Given the description of an element on the screen output the (x, y) to click on. 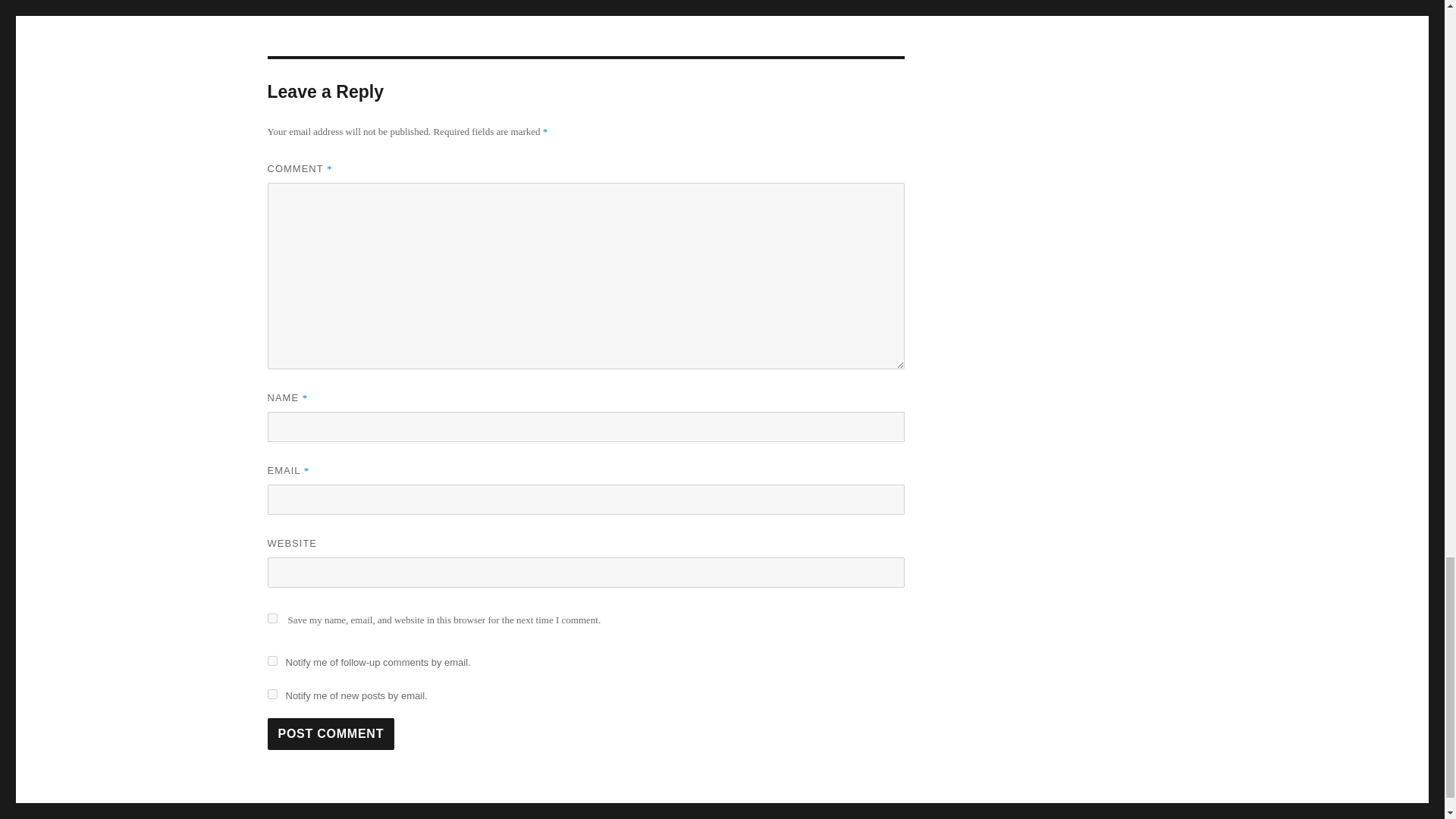
Post Comment (330, 734)
Post Comment (330, 734)
yes (271, 618)
subscribe (271, 660)
subscribe (271, 694)
